Given the description of an element on the screen output the (x, y) to click on. 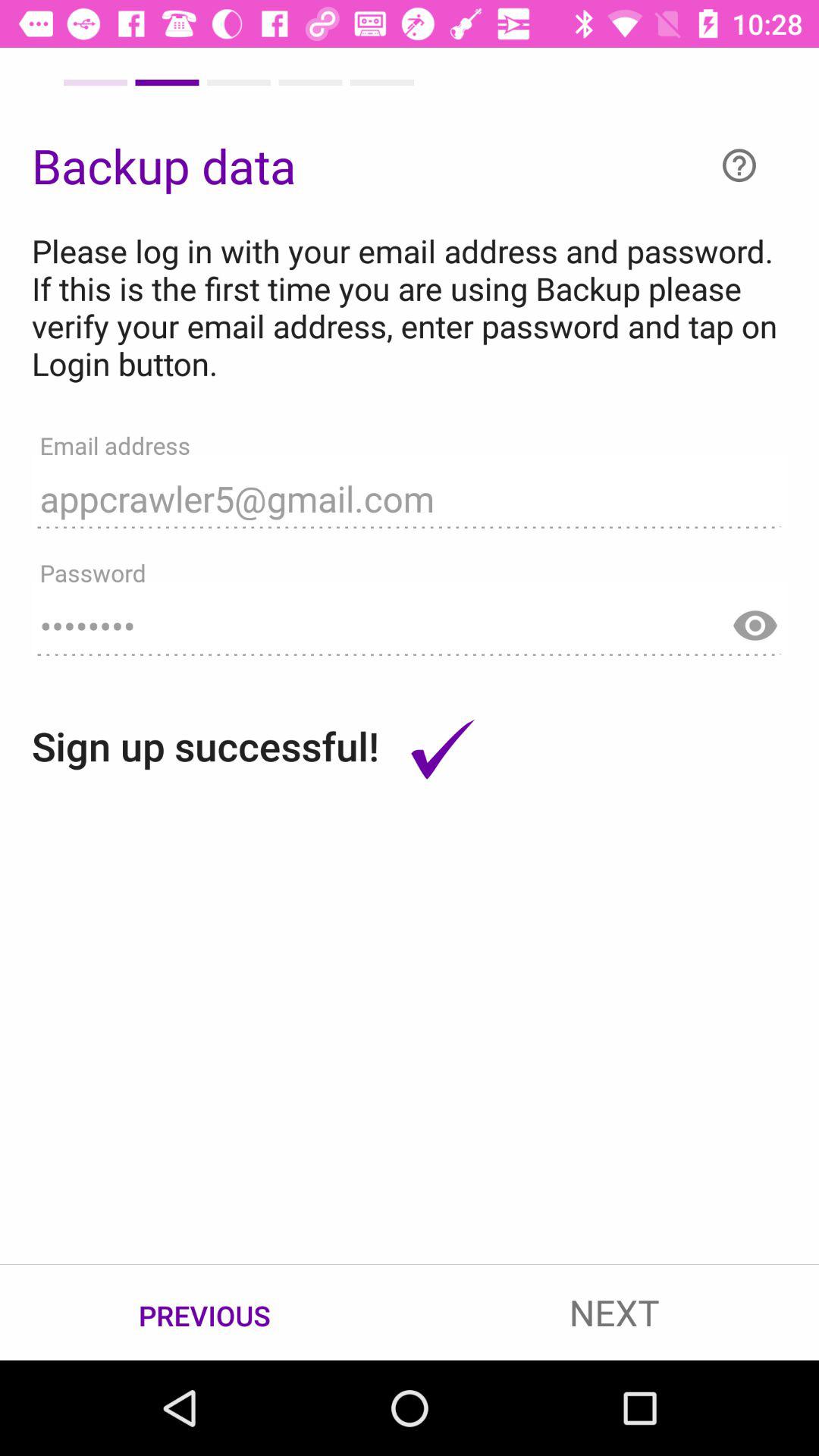
tap the item below the appcrawler5@gmail.com icon (409, 618)
